Given the description of an element on the screen output the (x, y) to click on. 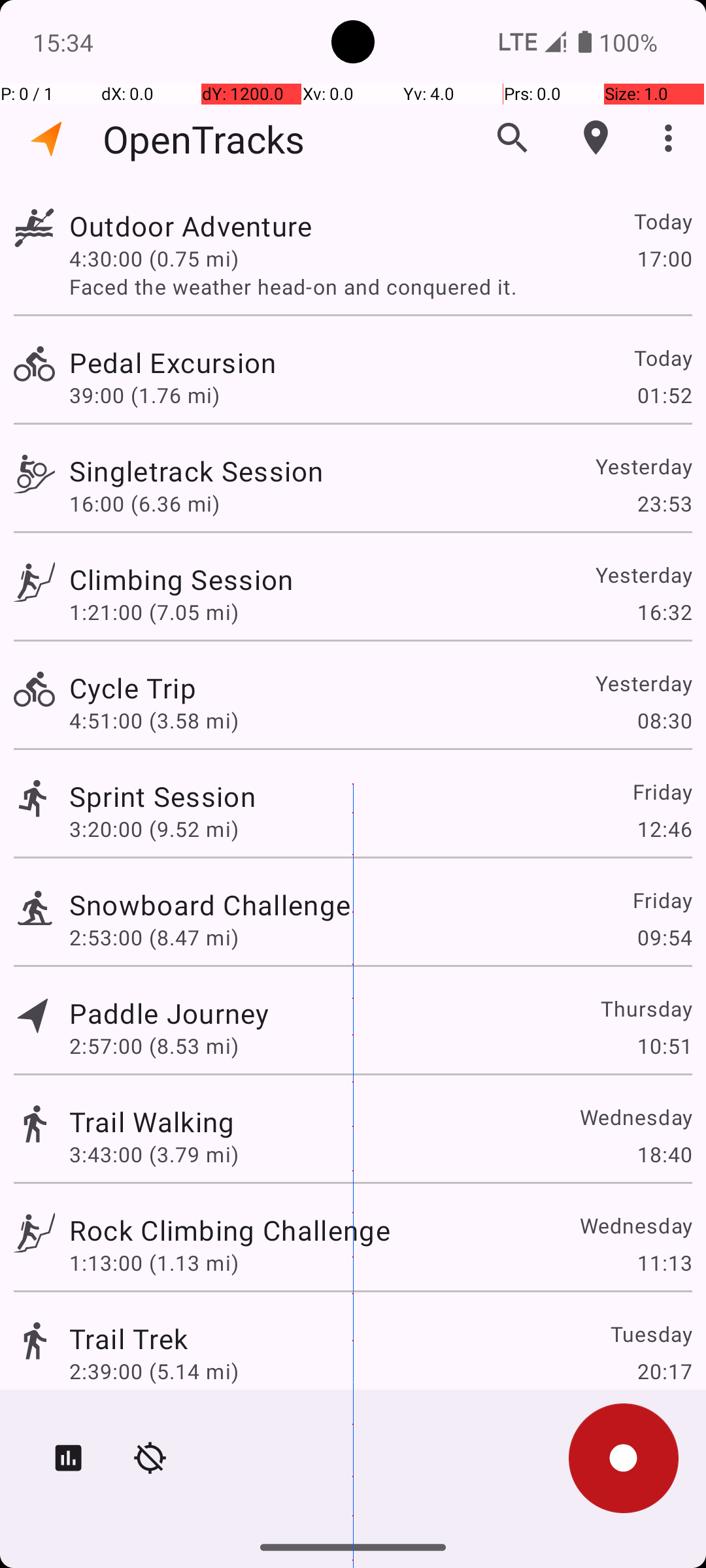
Outdoor Adventure Element type: android.widget.TextView (190, 225)
4:30:00 (0.75 mi) Element type: android.widget.TextView (153, 258)
Faced the weather head-on and conquered it. Element type: android.widget.TextView (380, 286)
Pedal Excursion Element type: android.widget.TextView (172, 361)
39:00 (1.76 mi) Element type: android.widget.TextView (144, 394)
01:52 Element type: android.widget.TextView (664, 394)
Singletrack Session Element type: android.widget.TextView (196, 470)
16:00 (6.36 mi) Element type: android.widget.TextView (144, 503)
23:53 Element type: android.widget.TextView (664, 503)
Climbing Session Element type: android.widget.TextView (180, 578)
1:21:00 (7.05 mi) Element type: android.widget.TextView (153, 611)
16:32 Element type: android.widget.TextView (664, 611)
Cycle Trip Element type: android.widget.TextView (132, 687)
4:51:00 (3.58 mi) Element type: android.widget.TextView (153, 720)
Sprint Session Element type: android.widget.TextView (162, 795)
3:20:00 (9.52 mi) Element type: android.widget.TextView (153, 828)
12:46 Element type: android.widget.TextView (664, 828)
Snowboard Challenge Element type: android.widget.TextView (209, 904)
2:53:00 (8.47 mi) Element type: android.widget.TextView (153, 937)
09:54 Element type: android.widget.TextView (664, 937)
Paddle Journey Element type: android.widget.TextView (168, 1012)
2:57:00 (8.53 mi) Element type: android.widget.TextView (153, 1045)
10:51 Element type: android.widget.TextView (664, 1045)
Trail Walking Element type: android.widget.TextView (151, 1121)
3:43:00 (3.79 mi) Element type: android.widget.TextView (153, 1154)
18:40 Element type: android.widget.TextView (664, 1154)
Rock Climbing Challenge Element type: android.widget.TextView (229, 1229)
1:13:00 (1.13 mi) Element type: android.widget.TextView (153, 1262)
11:13 Element type: android.widget.TextView (664, 1262)
Trail Trek Element type: android.widget.TextView (128, 1337)
2:39:00 (5.14 mi) Element type: android.widget.TextView (153, 1370)
20:17 Element type: android.widget.TextView (664, 1370)
